Given the description of an element on the screen output the (x, y) to click on. 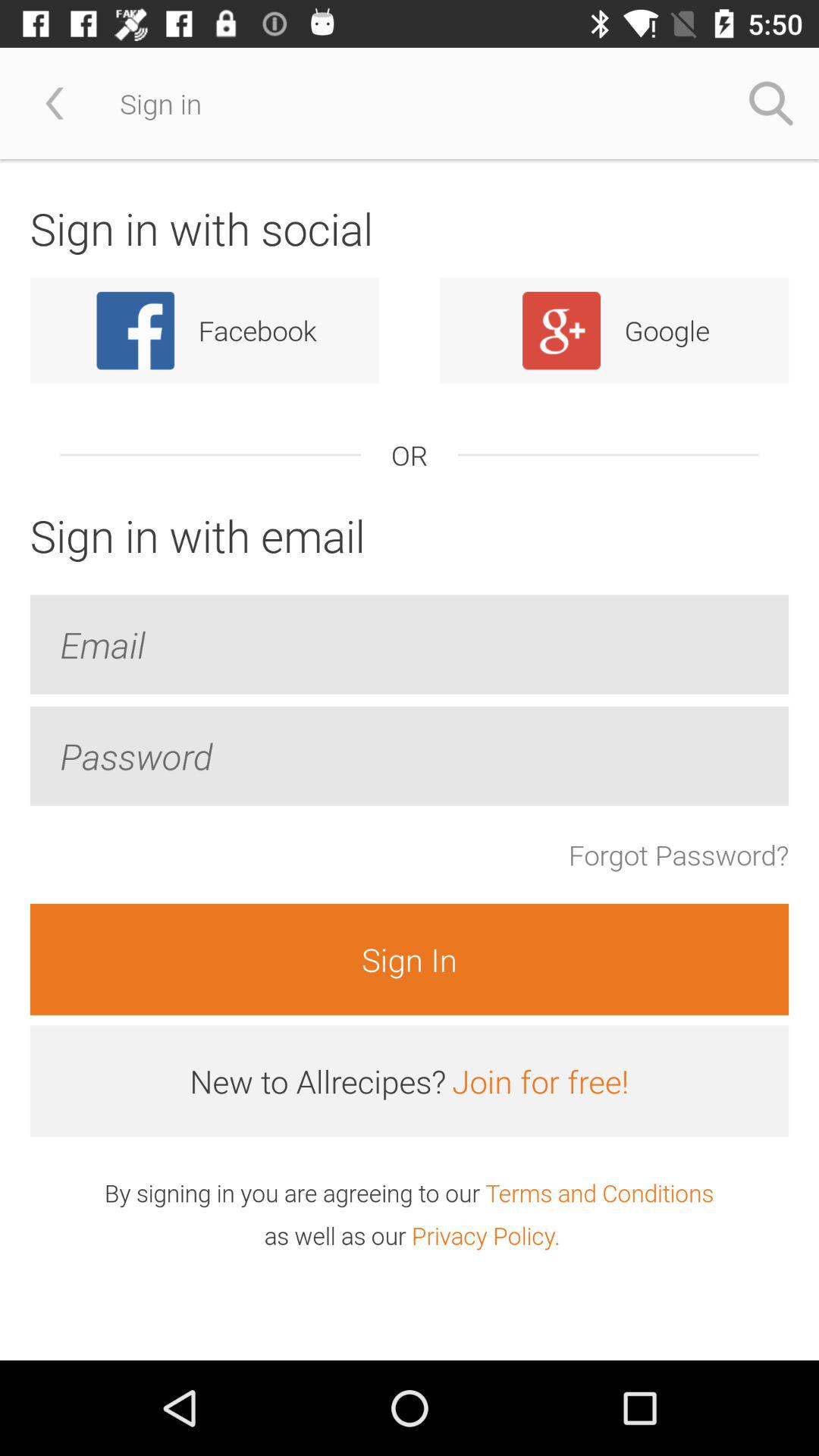
choose icon at the bottom right corner (599, 1192)
